Given the description of an element on the screen output the (x, y) to click on. 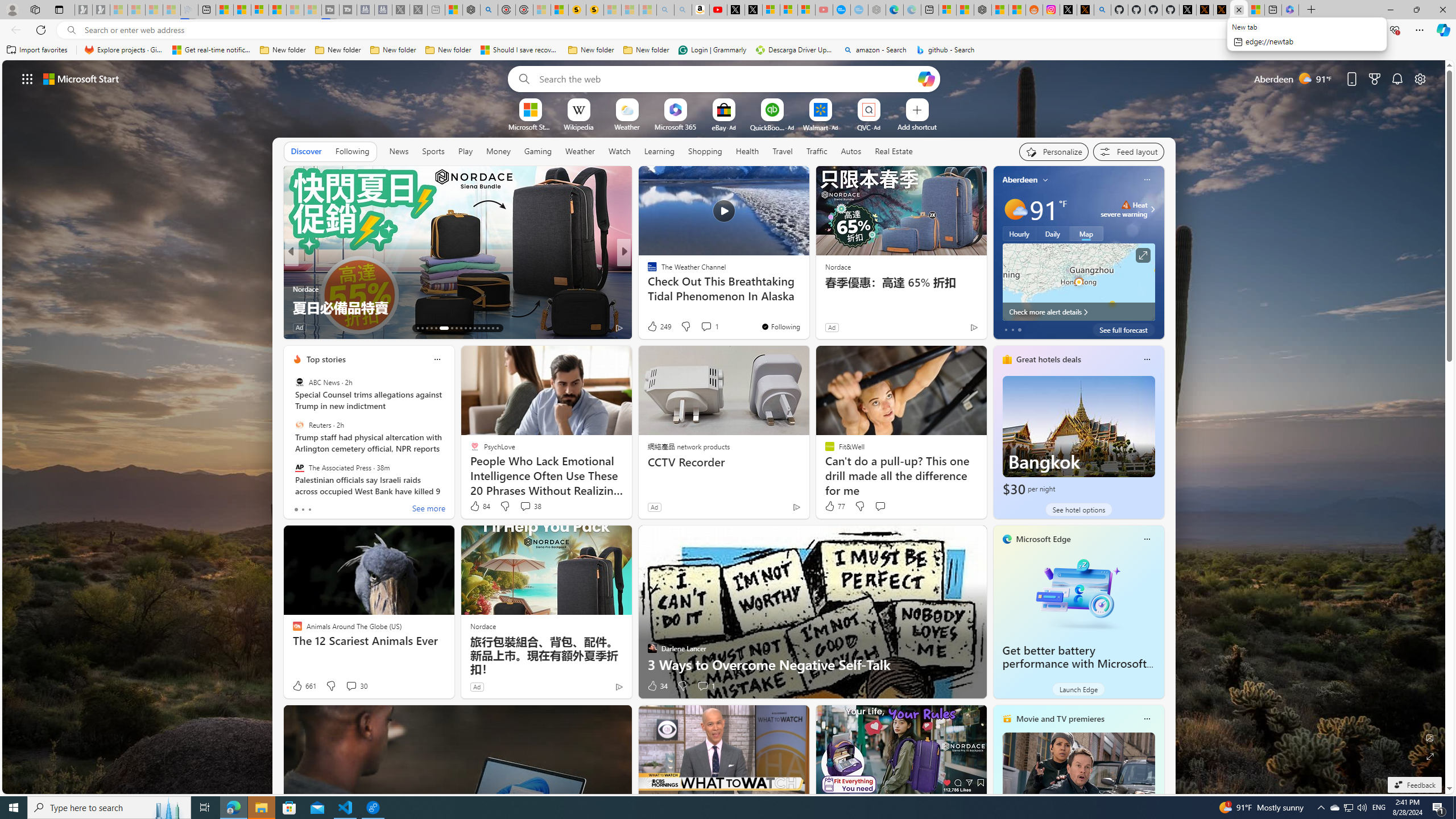
84 Like (479, 505)
Learning (659, 151)
Shopping (705, 151)
View comments 30 Comment (355, 685)
Aberdeen (1019, 179)
Class: weather-arrow-glyph (1152, 208)
The Independent (647, 270)
AutomationID: tab-14 (422, 328)
Microsoft account | Microsoft Account Privacy Settings (946, 9)
Autos (851, 151)
See hotel options (1078, 509)
